Given the description of an element on the screen output the (x, y) to click on. 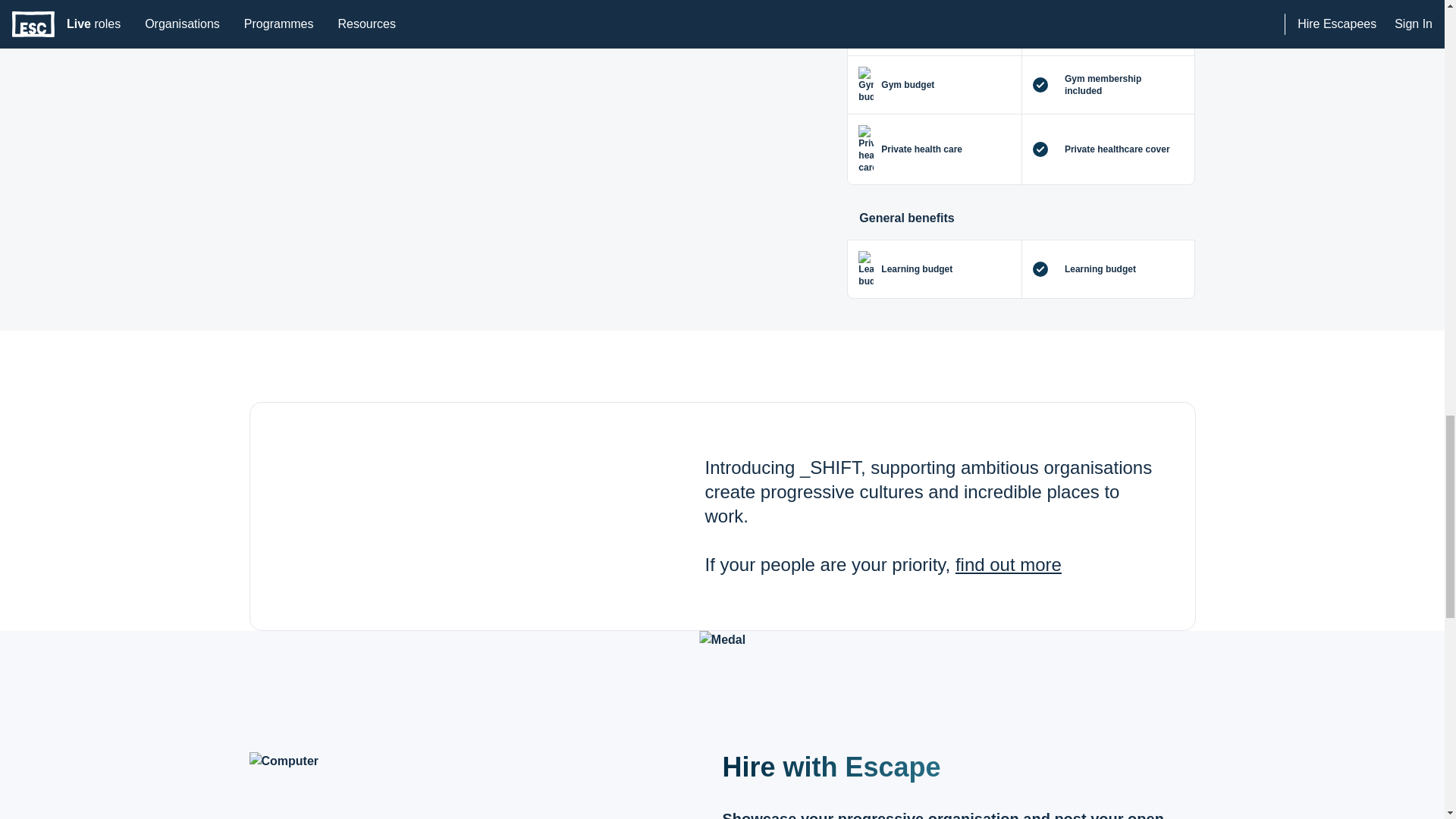
find out more (1008, 564)
